Given the description of an element on the screen output the (x, y) to click on. 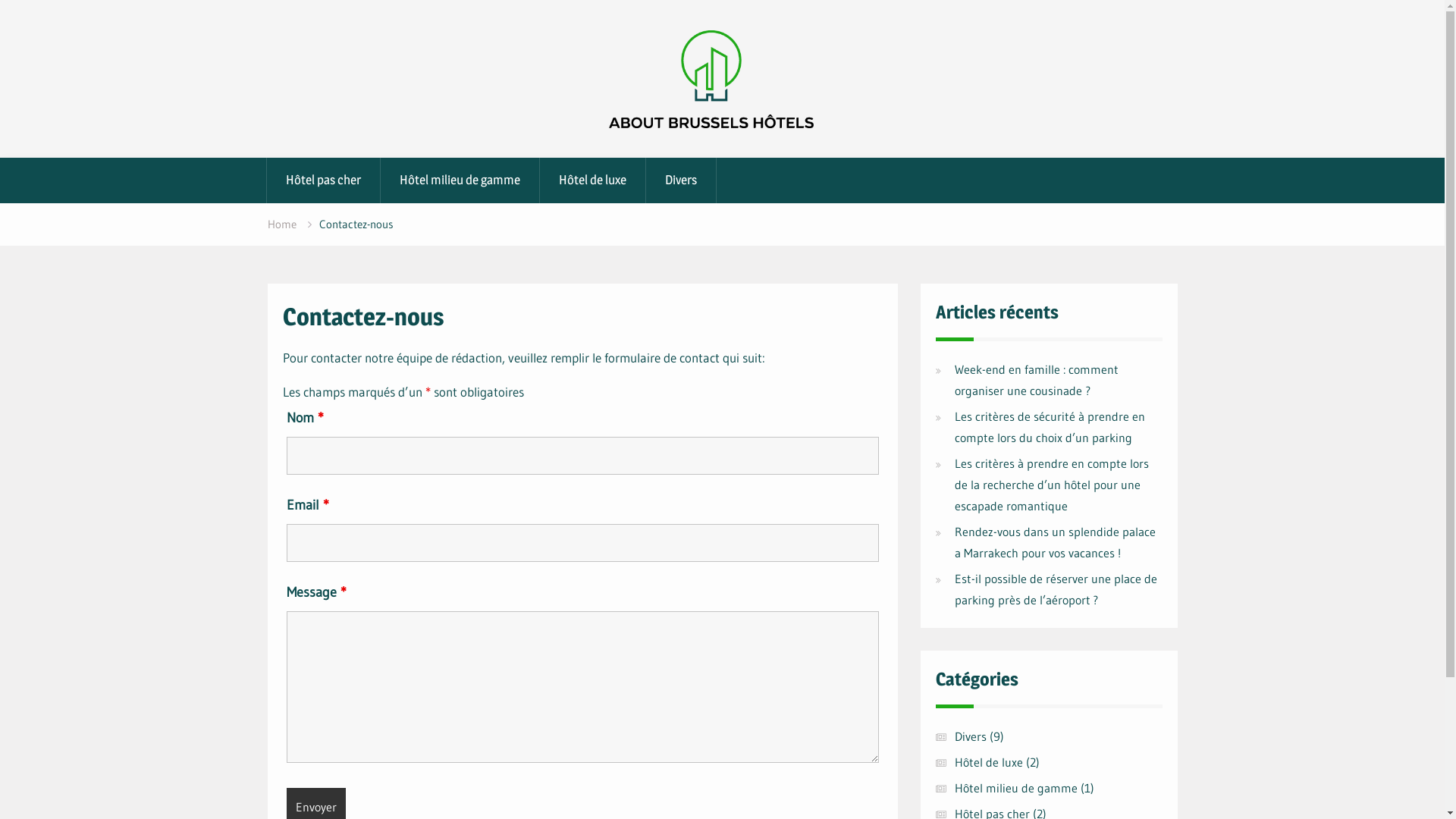
Divers Element type: text (969, 735)
Week-end en famille : comment organiser une cousinade ? Element type: text (1035, 379)
Home Element type: text (280, 223)
Divers Element type: text (681, 180)
